Given the description of an element on the screen output the (x, y) to click on. 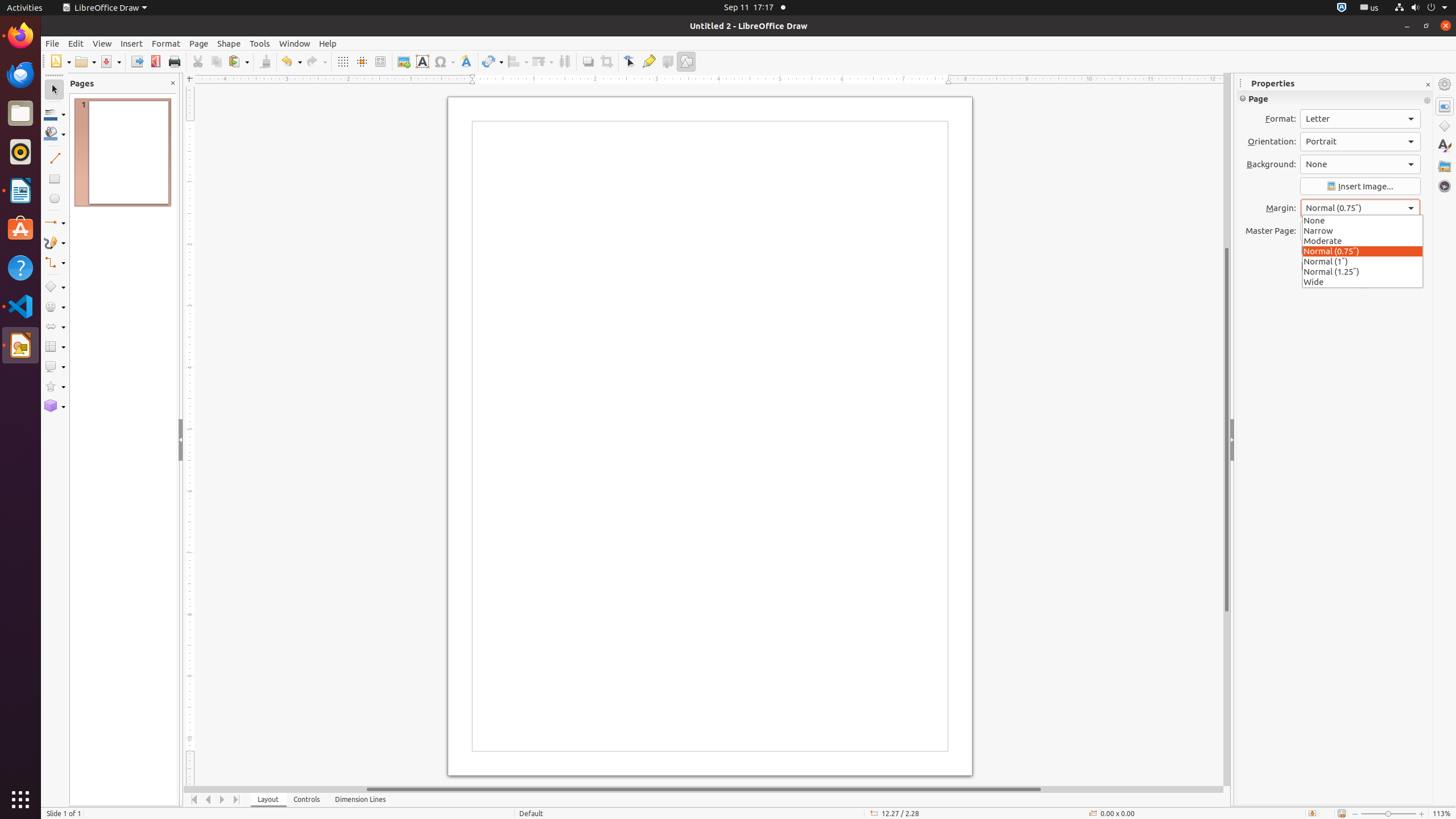
Distribution Element type: push-button (564, 61)
Symbol Element type: push-button (443, 61)
Rectangle Element type: push-button (53, 178)
Orientation: Element type: combo-box (1360, 141)
Cut Element type: push-button (197, 61)
